Given the description of an element on the screen output the (x, y) to click on. 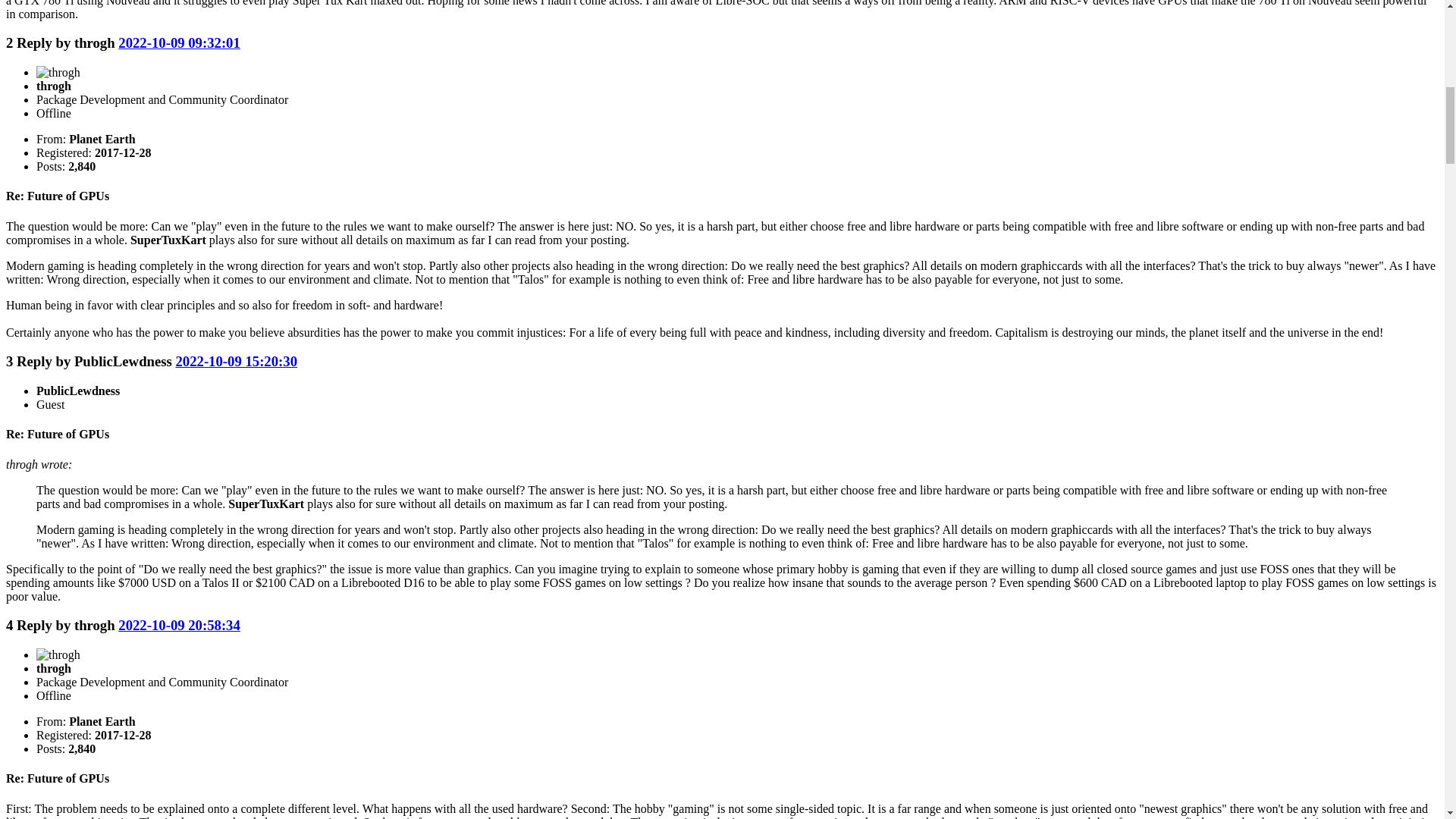
2022-10-09 20:58:34 (178, 625)
2022-10-09 15:20:30 (235, 360)
2022-10-09 09:32:01 (178, 42)
Permanent link to this post (178, 42)
Permanent link to this post (235, 360)
